Given the description of an element on the screen output the (x, y) to click on. 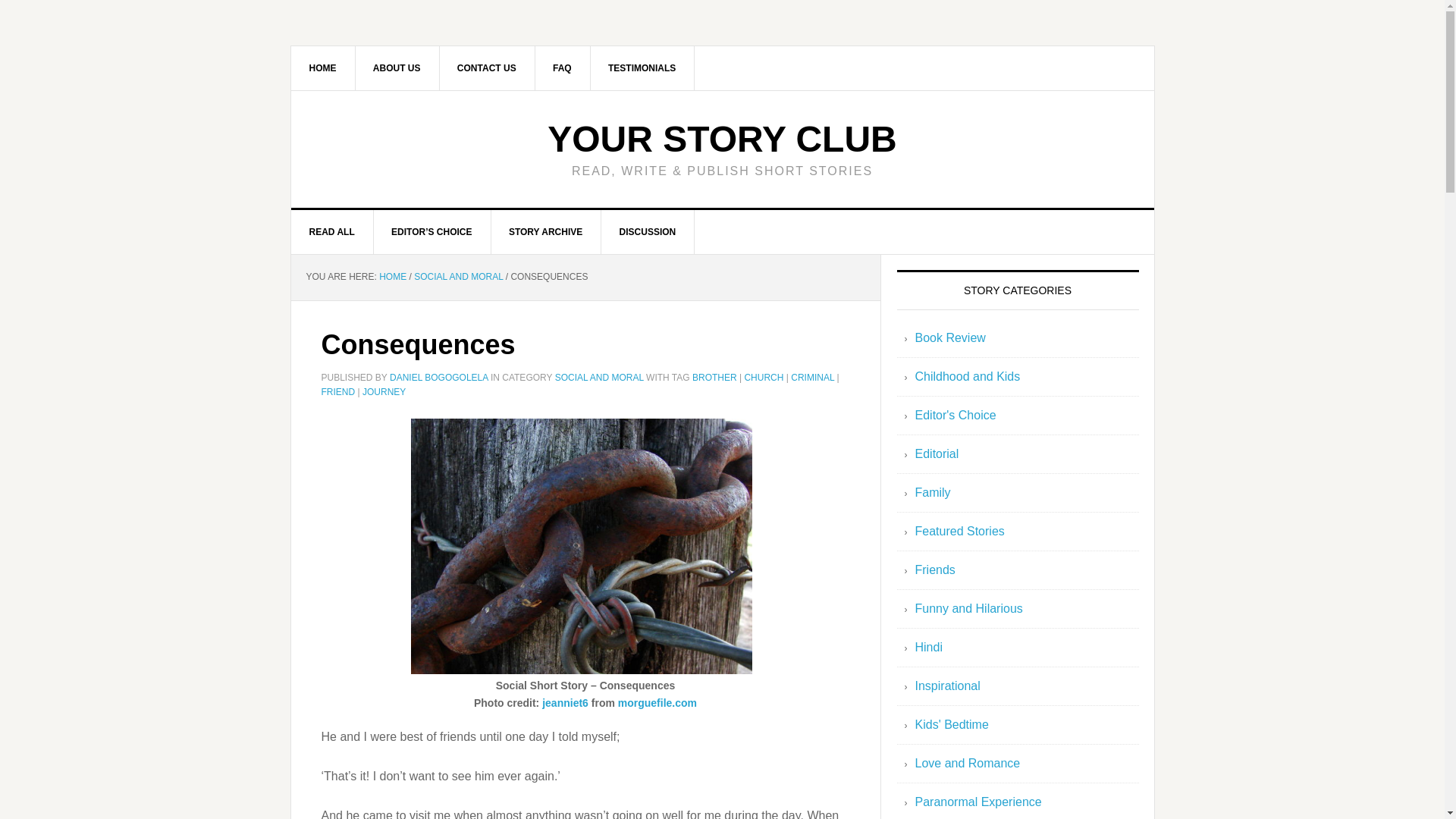
Search story from listing (545, 231)
CONTACT US (487, 67)
Read what our writers say about us (641, 67)
Kids' Bedtime (951, 724)
SOCIAL AND MORAL (457, 276)
Book Review (949, 337)
Read about us (397, 67)
Inspirational (946, 685)
Editorial (936, 453)
STORY ARCHIVE (545, 231)
YOUR STORY CLUB (721, 138)
Participate in discussion forum (648, 231)
Childhood and Kids (967, 376)
